Given the description of an element on the screen output the (x, y) to click on. 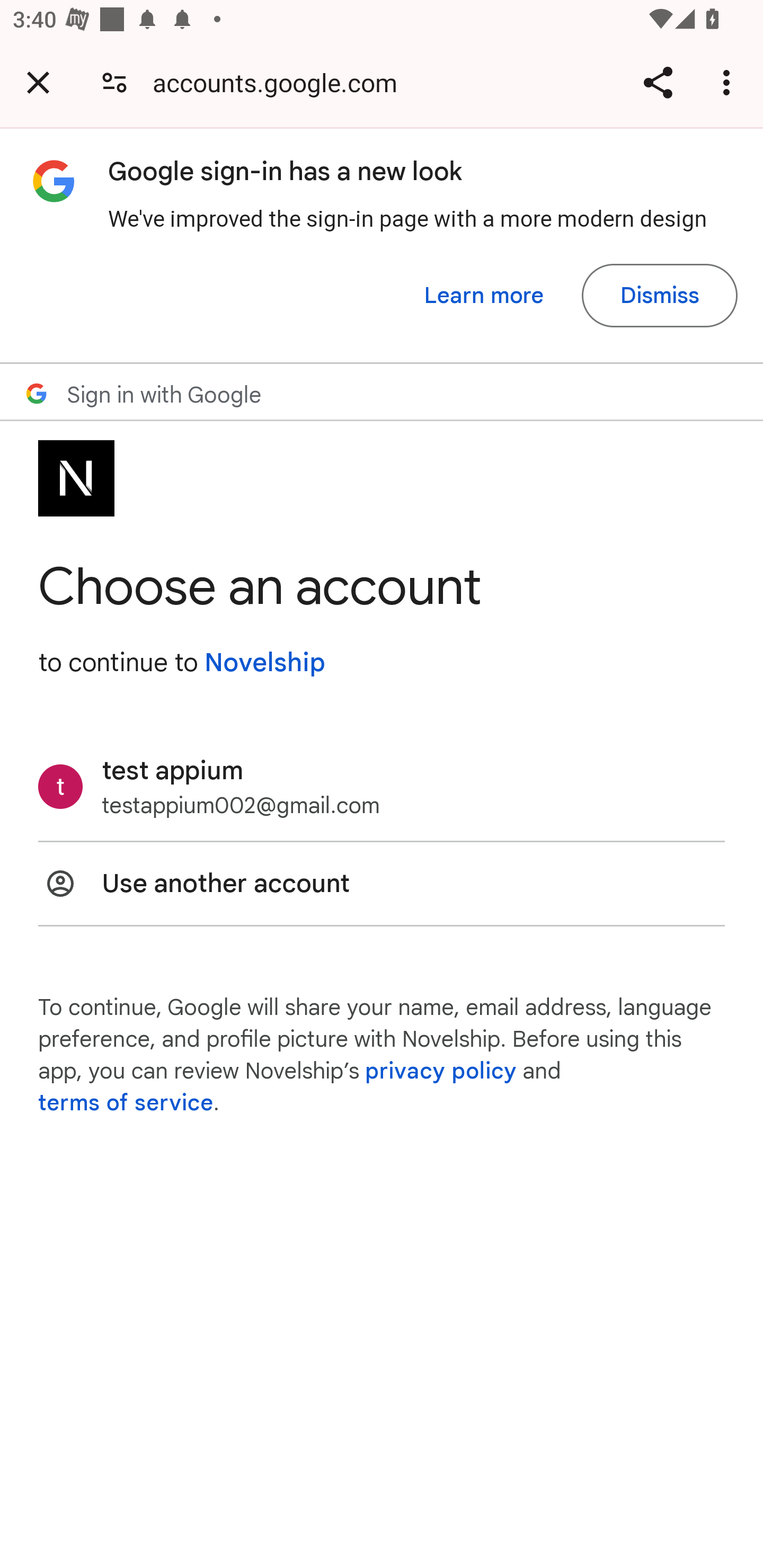
Close tab (38, 82)
Share (657, 82)
Customize and control Google Chrome (729, 82)
Connection is secure (114, 81)
accounts.google.com (281, 81)
Learn more (483, 295)
Dismiss (659, 295)
Novelship (264, 662)
Use another account (381, 883)
privacy policy (440, 1070)
terms of service (126, 1102)
